Given the description of an element on the screen output the (x, y) to click on. 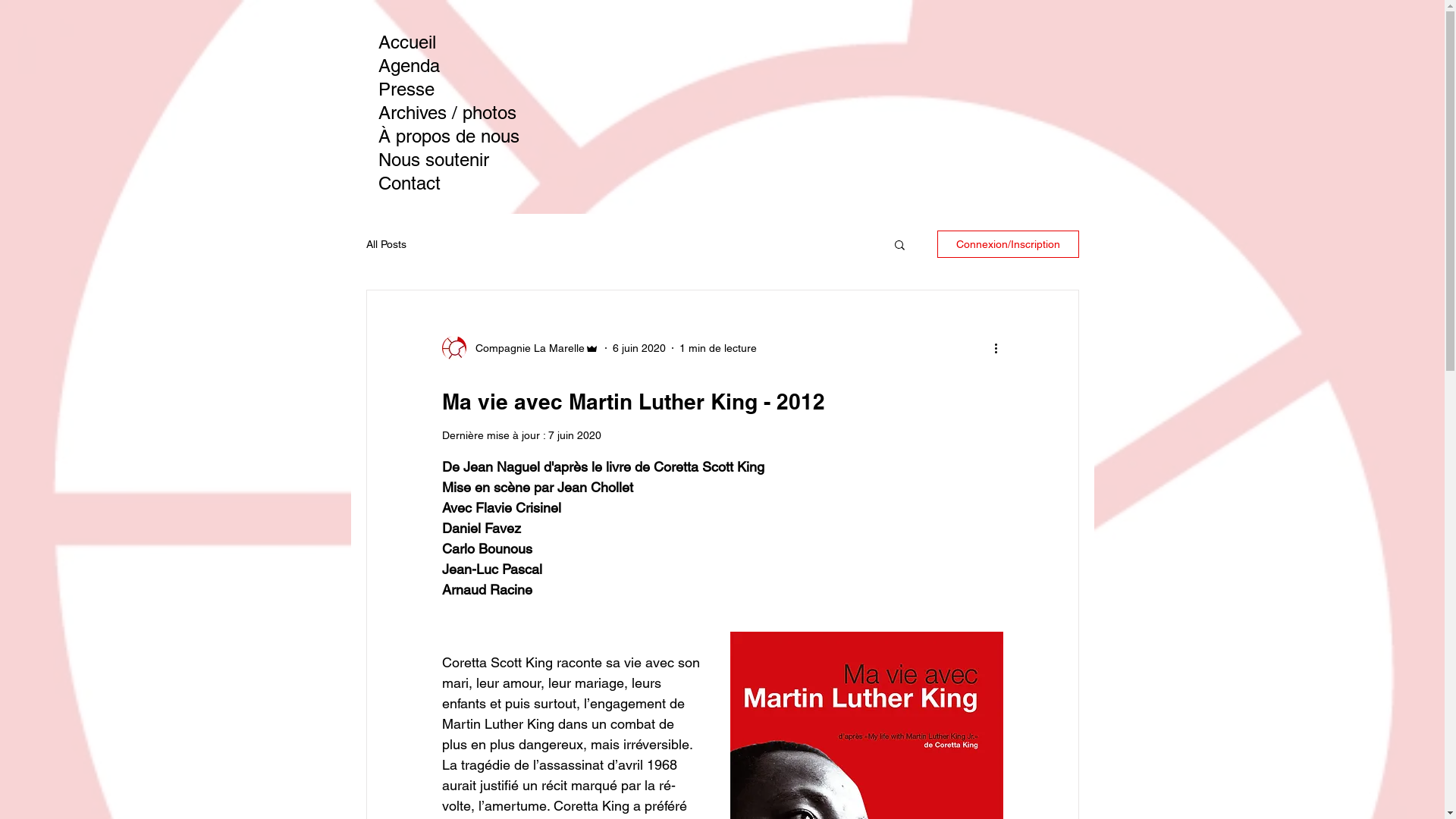
Accueil Element type: text (469, 41)
All Posts Element type: text (385, 244)
Nous soutenir Element type: text (469, 159)
Archives / photos Element type: text (469, 112)
Contact Element type: text (469, 182)
Connexion/Inscription Element type: text (1008, 243)
Agenda Element type: text (469, 65)
Presse Element type: text (469, 88)
